Given the description of an element on the screen output the (x, y) to click on. 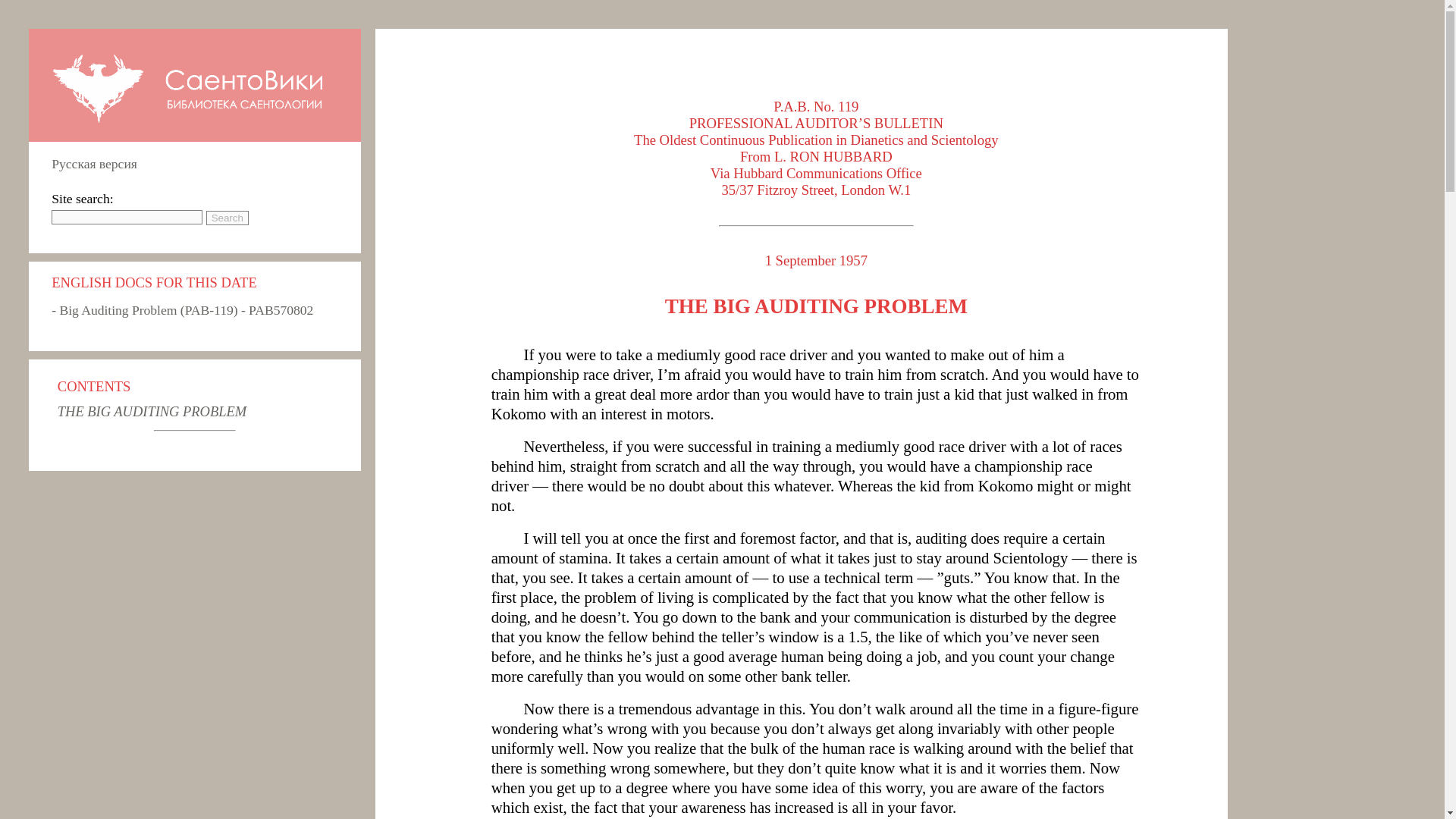
Search (227, 217)
Search (227, 217)
THE BIG AUDITING PROBLEM (816, 306)
THE BIG AUDITING PROBLEM (152, 411)
